Given the description of an element on the screen output the (x, y) to click on. 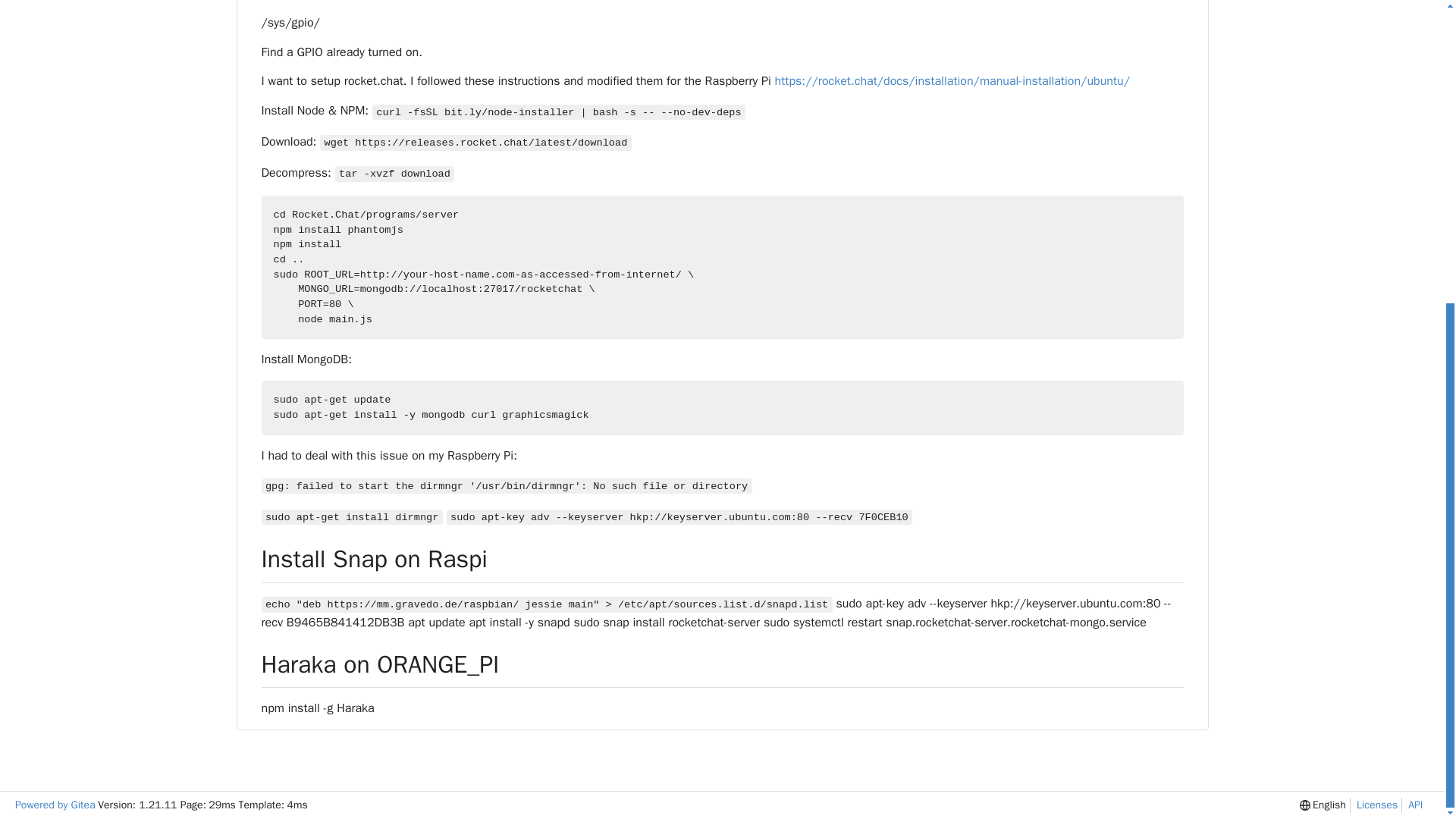
Powered by Gitea (55, 805)
